Given the description of an element on the screen output the (x, y) to click on. 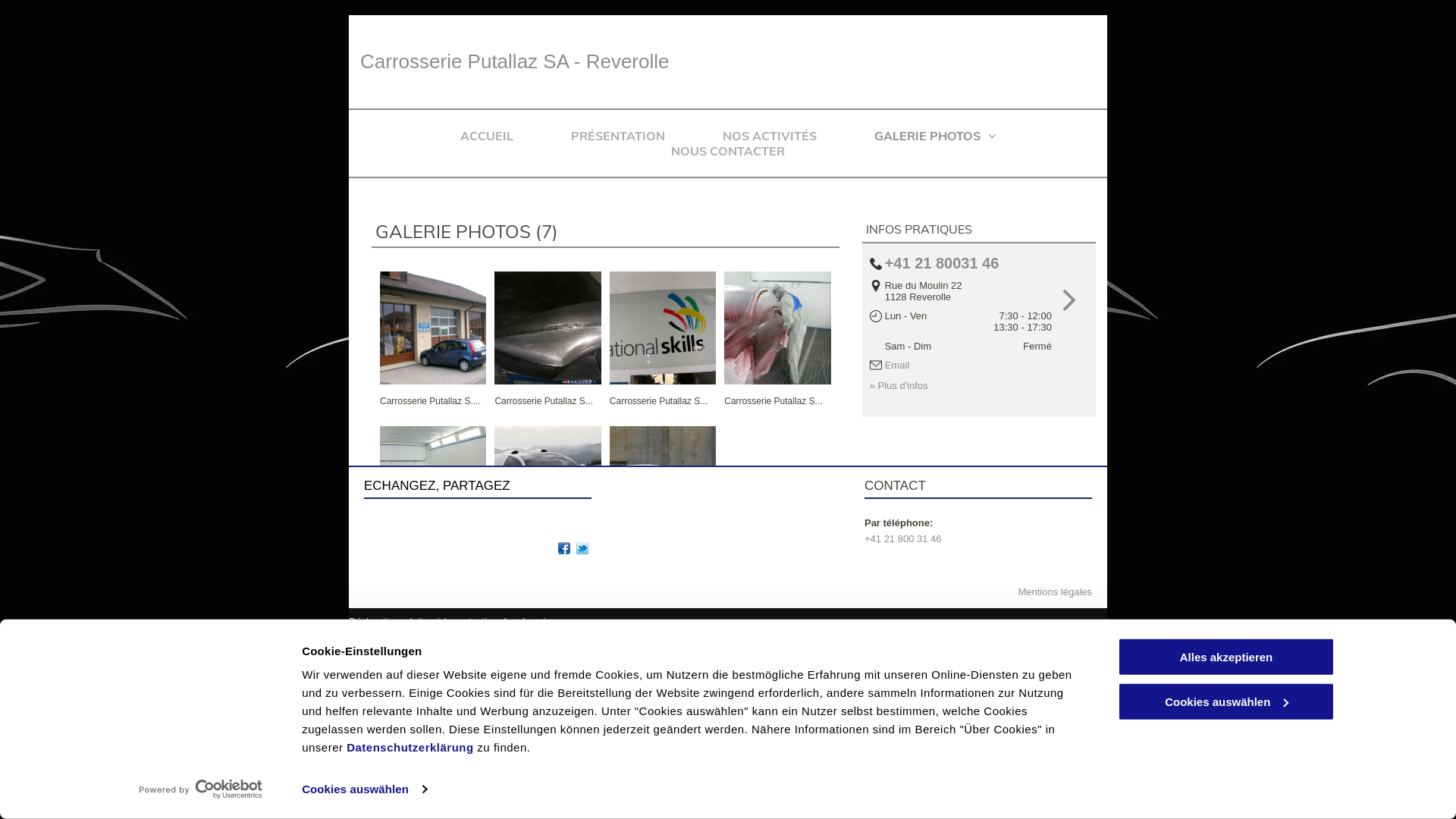
Carrosserie Putallaz SA - Reverolle Element type: hover (432, 482)
Carrosserie Putallaz SA - Reverolle Element type: hover (777, 327)
NOUS CONTACTER Element type: text (727, 150)
fb:like Facebook Social Plugin Element type: hover (398, 523)
+41 21 800 31 46 Element type: text (902, 538)
+41 21 80031 46 Element type: text (941, 262)
Carrosserie Putallaz SA - Reverolle Element type: hover (662, 327)
Carrosserie Putallaz SA - Reverolle Element type: hover (547, 327)
Carrosserie Putallaz SA - Reverolle Element type: hover (547, 482)
Carrosserie Putallaz SA - Reverolle Element type: text (514, 61)
Carrosserie Putallaz SA - Reverolle Element type: hover (662, 482)
ACCUEIL Element type: text (486, 135)
Email Element type: text (897, 364)
Alles akzeptieren Element type: text (1225, 656)
Carrosserie Putallaz SA - Reverolle Element type: hover (432, 327)
GALERIE PHOTOS Element type: text (934, 135)
